Given the description of an element on the screen output the (x, y) to click on. 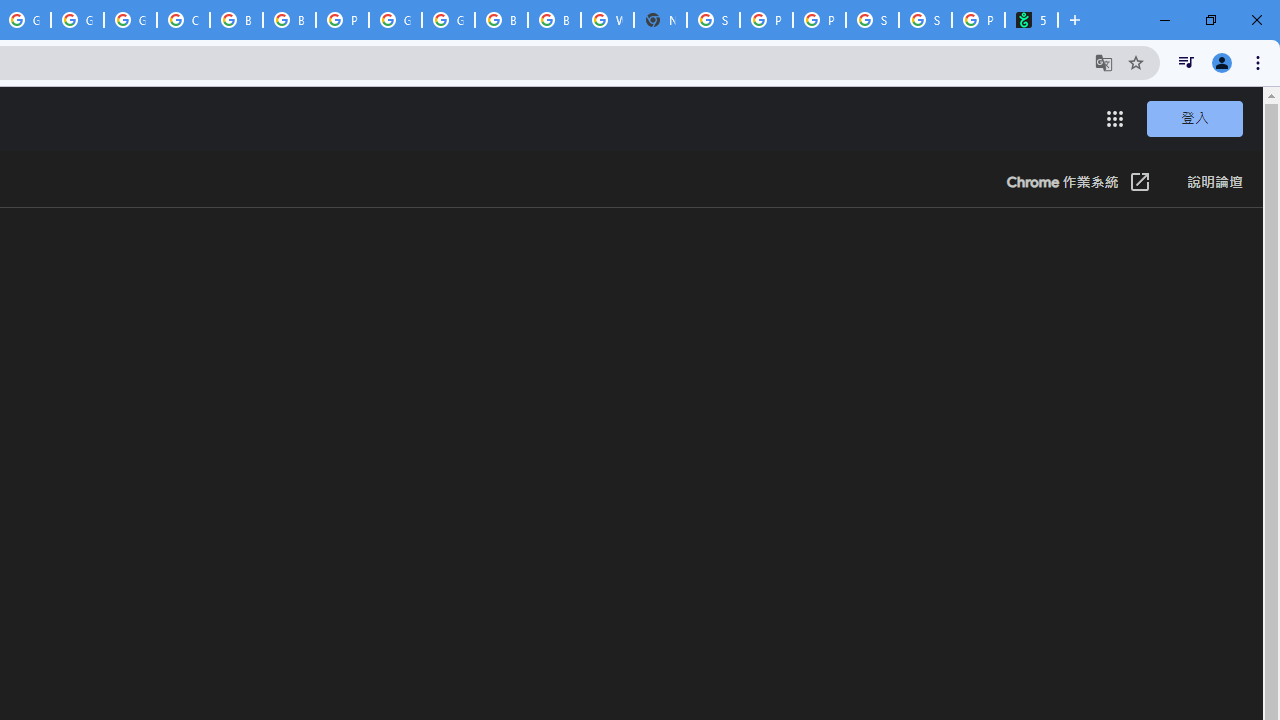
Google Cloud Platform (395, 20)
Sign in - Google Accounts (713, 20)
You (1221, 62)
New Tab (1075, 20)
New Tab (660, 20)
Bookmark this tab (1135, 62)
Restore (1210, 20)
Browse Chrome as a guest - Computer - Google Chrome Help (235, 20)
Chrome (1260, 62)
Close (1256, 20)
